Given the description of an element on the screen output the (x, y) to click on. 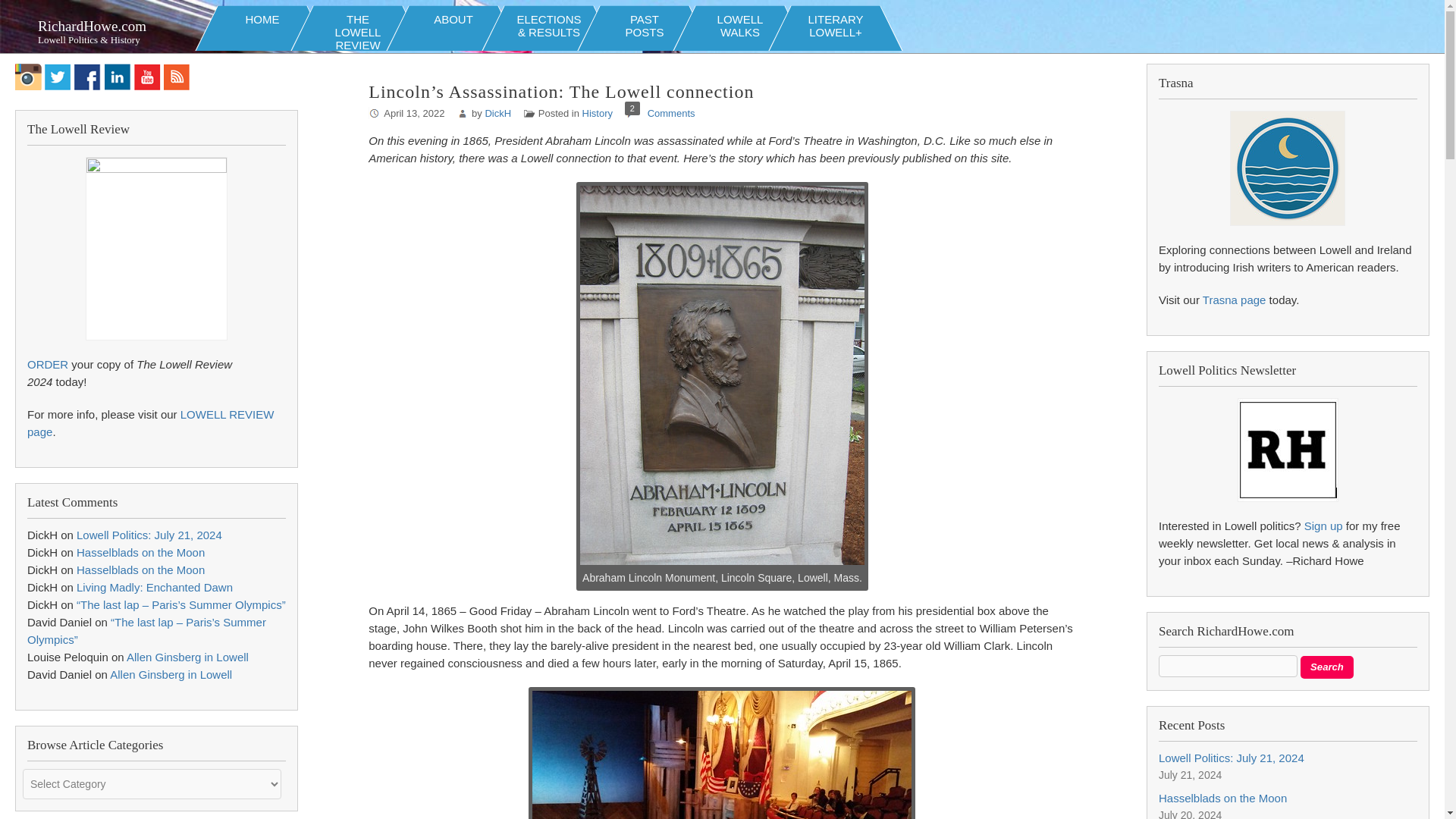
Find Us on LinkedIn (117, 76)
PAST POSTS (671, 112)
Leave a Comment (644, 23)
Find Us on Instagram (671, 112)
Find Us on Facebook (28, 76)
Living Madly: Enchanted Dawn (87, 76)
HOME (154, 586)
Search (261, 23)
DickH (1327, 667)
Hasselblads on the Moon (497, 112)
LOWELL REVIEW page (1222, 797)
Allen Ginsberg in Lowell (150, 422)
Trasna page (187, 656)
ABOUT (1234, 299)
